Given the description of an element on the screen output the (x, y) to click on. 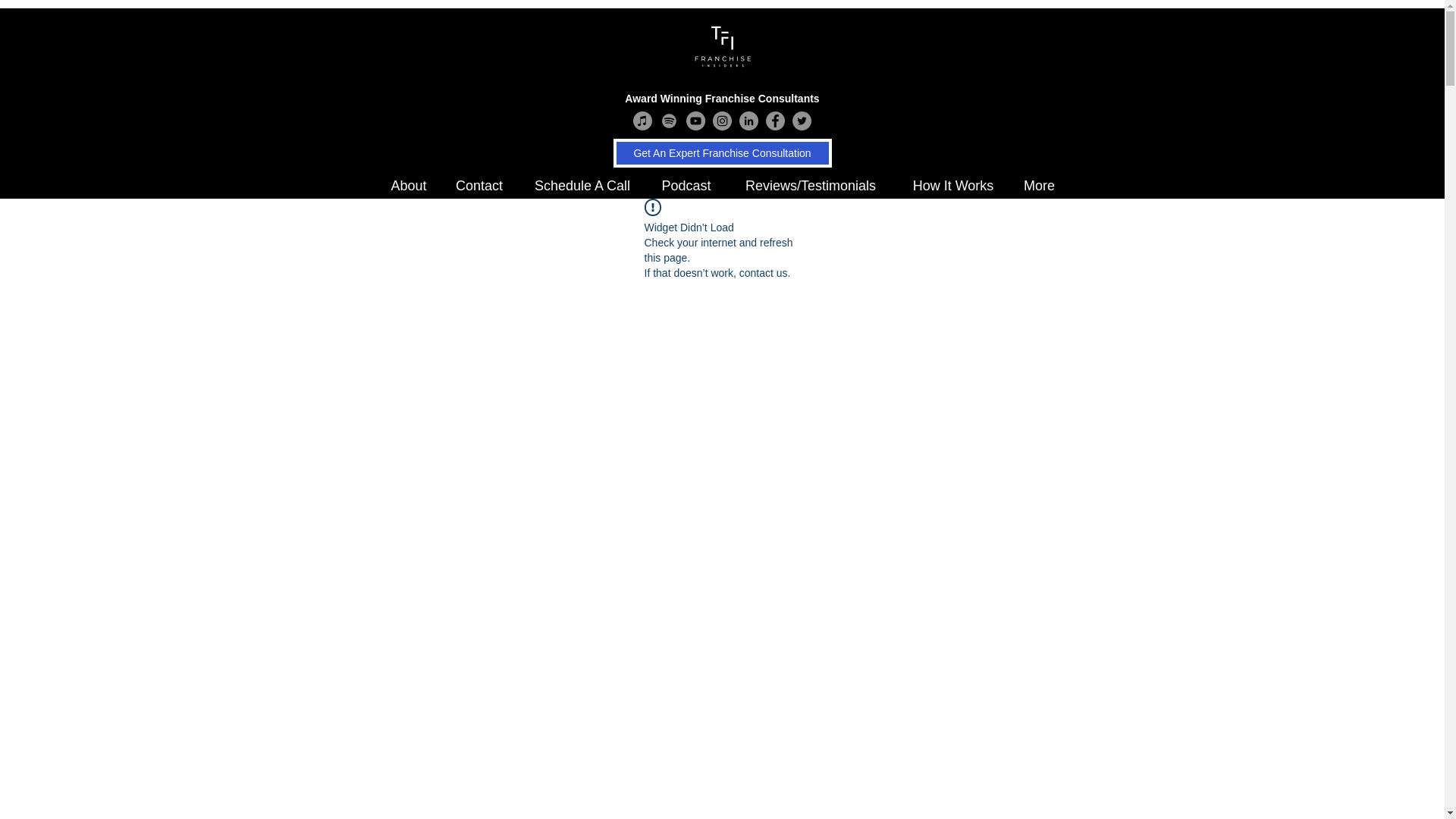
About (408, 185)
Contact (479, 185)
! (653, 207)
How It Works (953, 185)
Schedule A Call (581, 185)
Get An Expert Franchise Consultation (721, 152)
Podcast (686, 185)
